Given the description of an element on the screen output the (x, y) to click on. 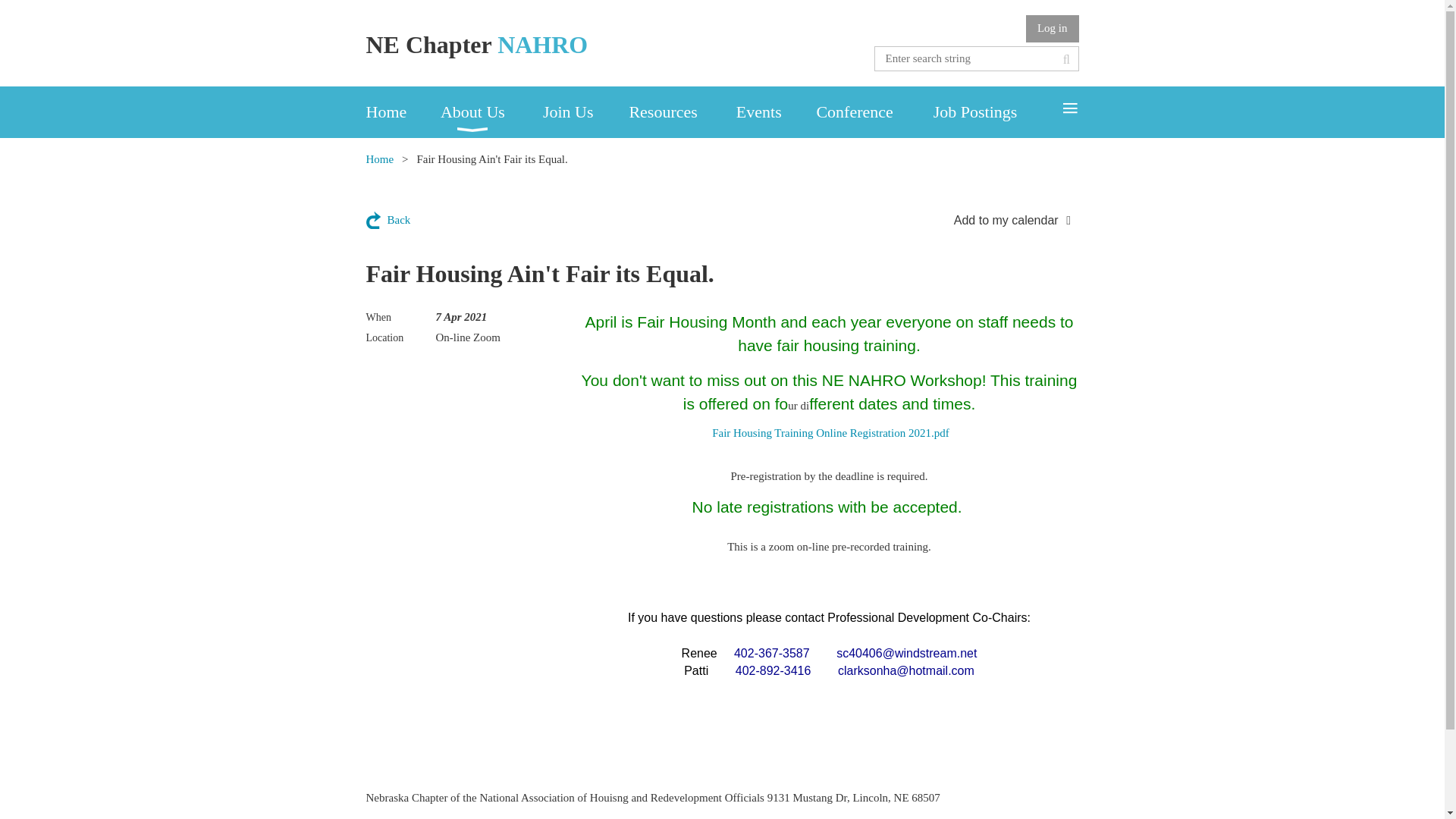
About Us (492, 112)
402-892-3416 (772, 671)
Job Postings (995, 112)
Home (402, 112)
About Us (492, 112)
Events (776, 112)
Job Postings (995, 112)
Resources (681, 112)
402-367-3587 (771, 653)
Resources (681, 112)
Events (776, 112)
Join Us (585, 112)
Log in (1052, 28)
Conference (874, 112)
Conference (874, 112)
